Given the description of an element on the screen output the (x, y) to click on. 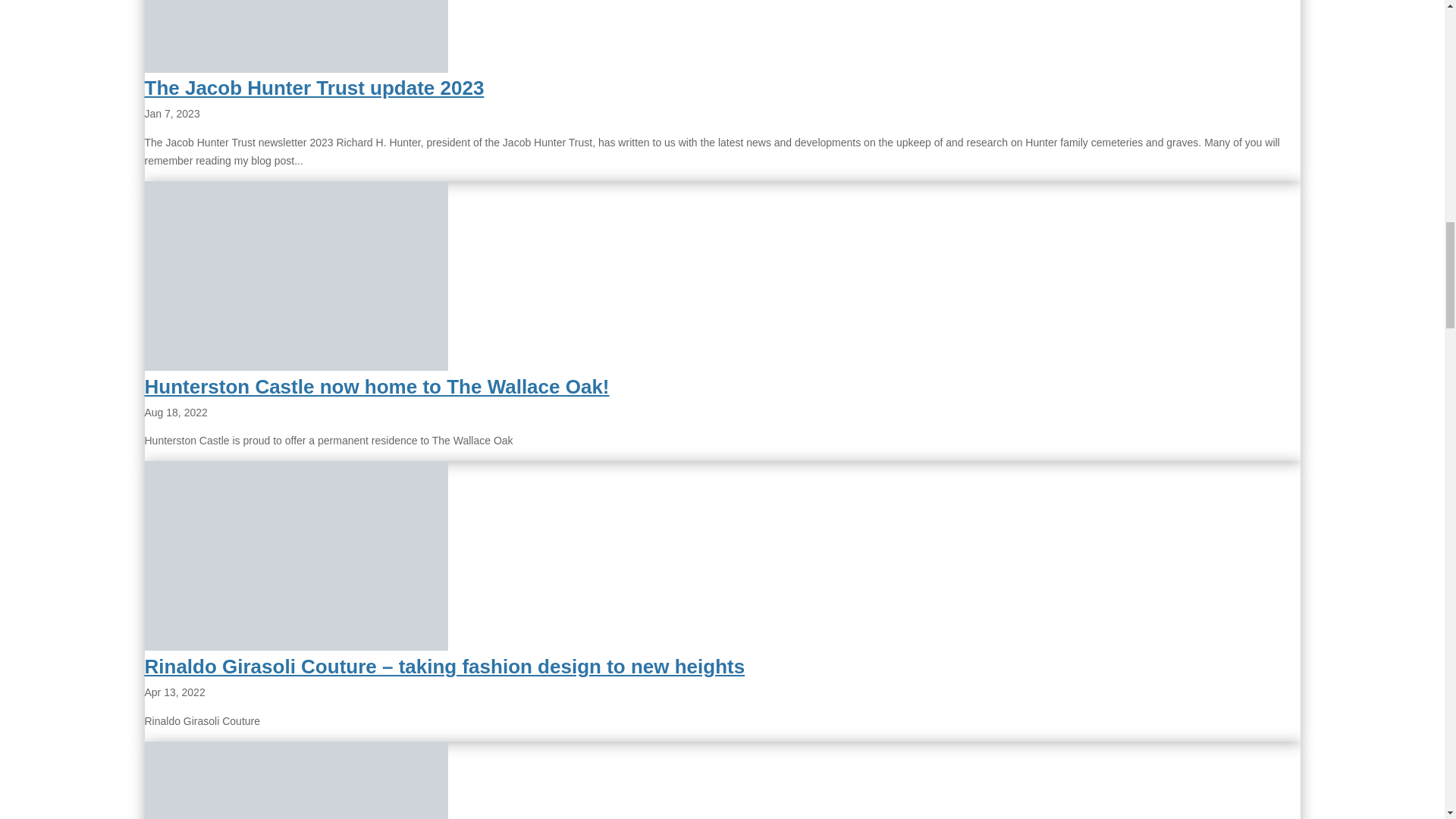
Hunterston Castle now home to The Wallace Oak! (376, 386)
The Jacob Hunter Trust update 2023 (313, 87)
